Given the description of an element on the screen output the (x, y) to click on. 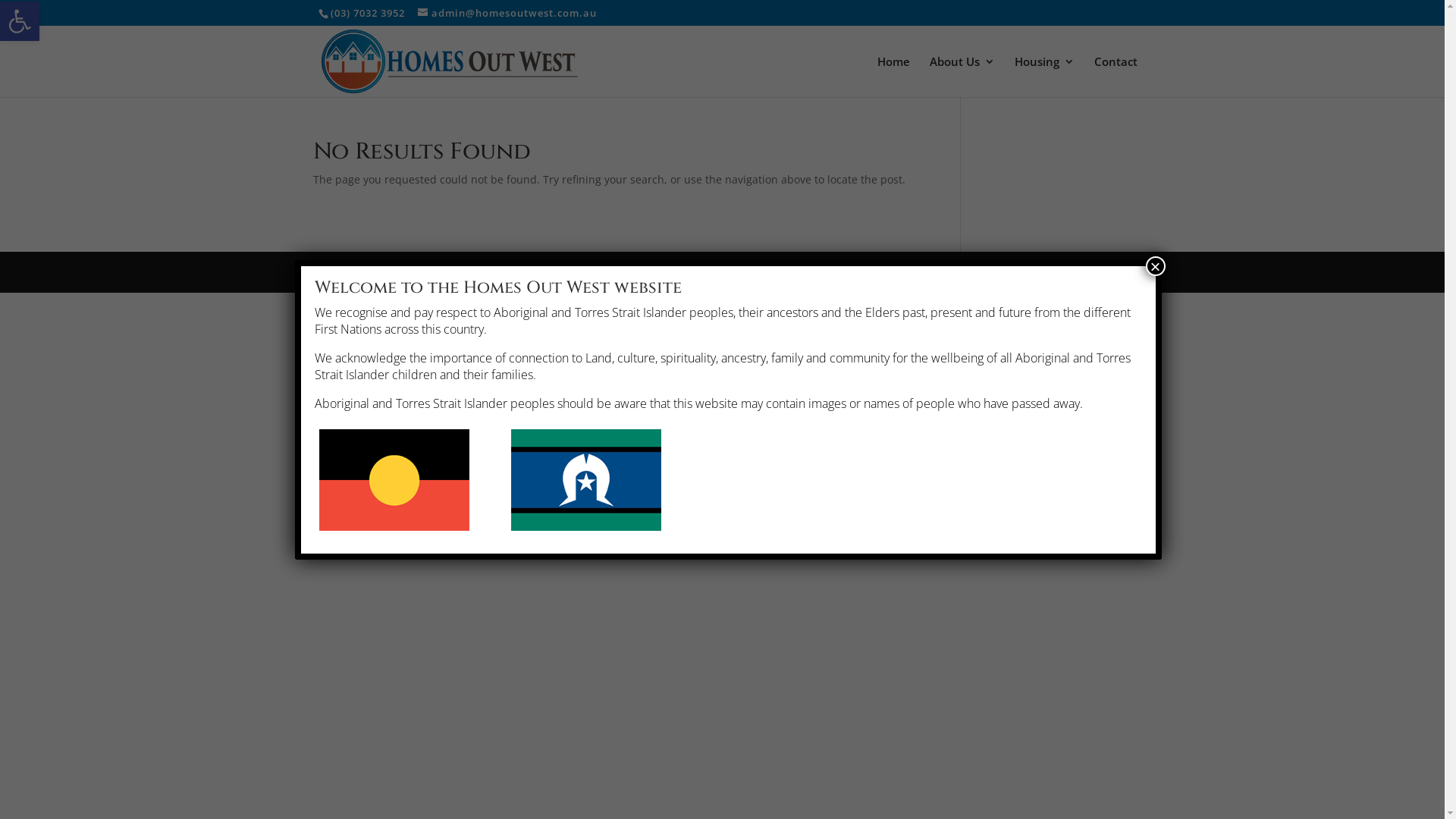
Homes Out West Element type: text (365, 271)
Contact Element type: text (1115, 76)
admin@homesoutwest.com.au Element type: text (506, 12)
About Us Element type: text (961, 76)
Policies Element type: text (432, 271)
Open toolbar
Accessibility Tools Element type: text (19, 20)
ChookChook Element type: text (572, 271)
Housing Element type: text (1044, 76)
Home Element type: text (893, 76)
